Given the description of an element on the screen output the (x, y) to click on. 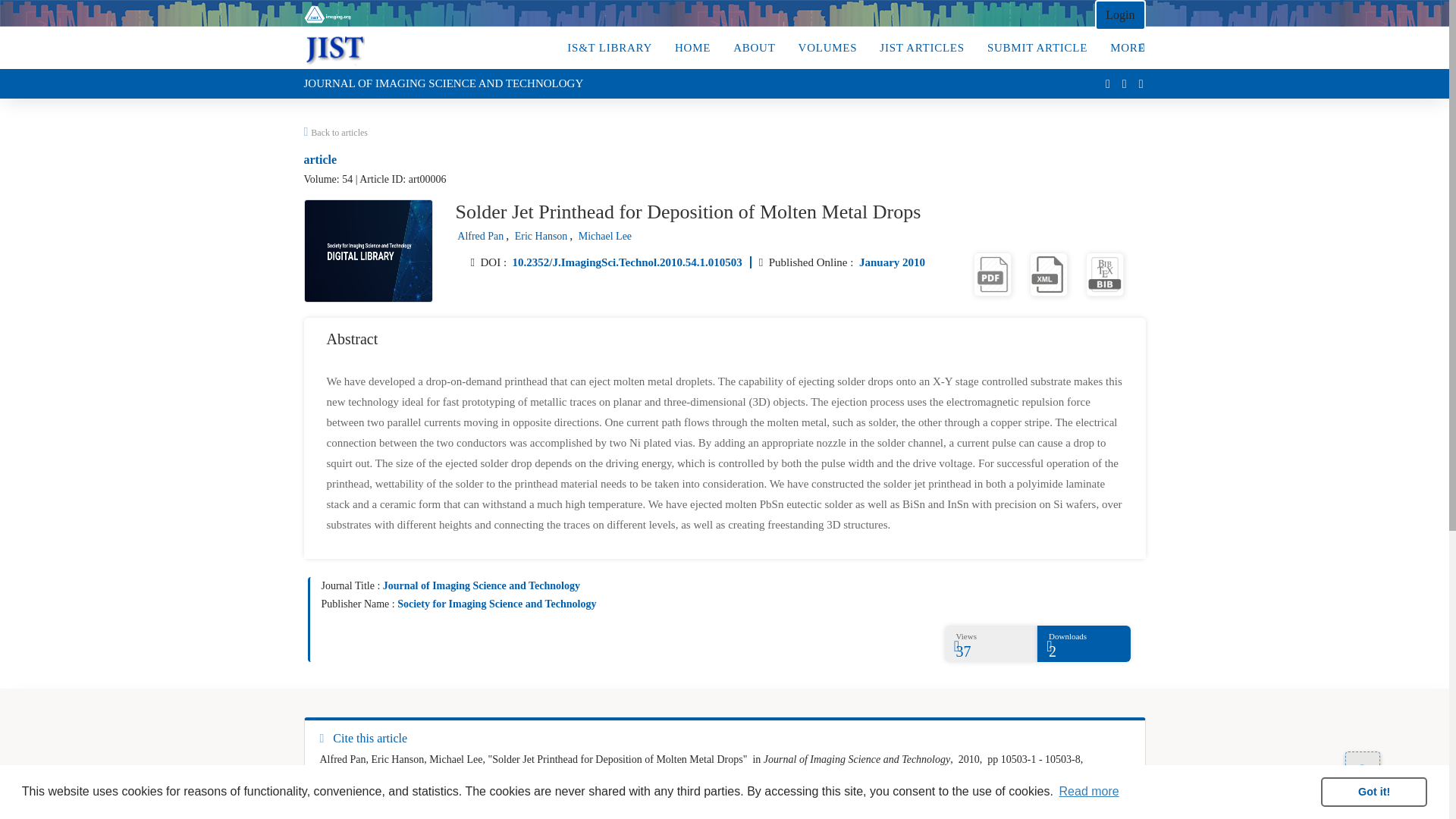
Subscribe to download (1105, 273)
Subscribe to download (992, 273)
JIST ARTICLES (922, 47)
Got it! (1373, 791)
ABOUT (754, 47)
Subscribe to download (1048, 273)
HOME (691, 47)
VOLUMES (827, 47)
MORE (1123, 47)
Read more (1089, 791)
SUBMIT ARTICLE (1036, 47)
No article cover image (368, 250)
